Given the description of an element on the screen output the (x, y) to click on. 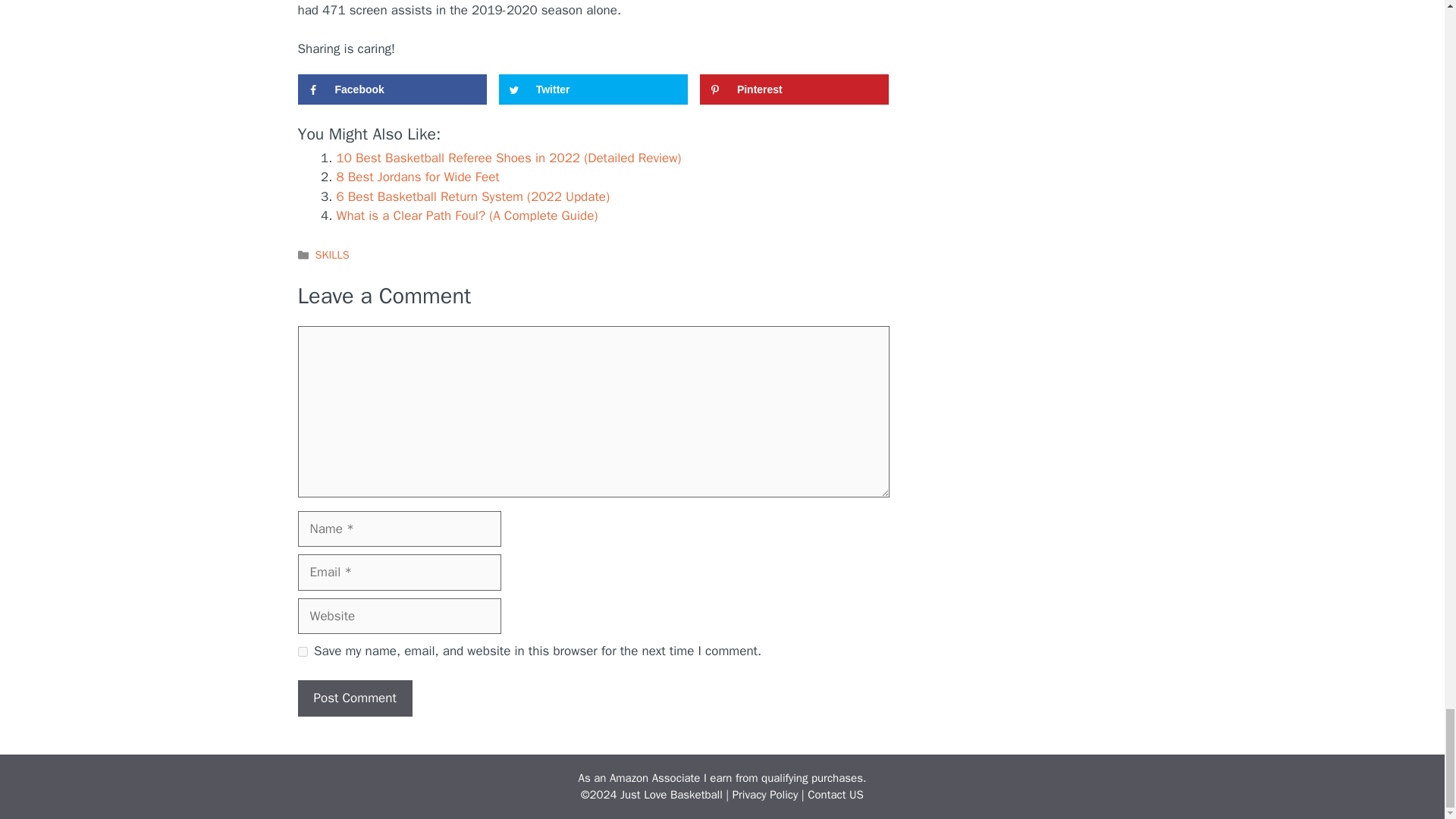
Post Comment (354, 698)
8 Best Jordans for Wide Feet (417, 176)
Facebook (391, 89)
Post Comment (354, 698)
Share on Twitter (593, 89)
Save to Pinterest (794, 89)
8 Best Jordans for Wide Feet (417, 176)
SKILLS (332, 254)
Pinterest (794, 89)
Share on Facebook (391, 89)
yes (302, 651)
Twitter (593, 89)
Contact US (835, 794)
Privacy Policy (764, 794)
